Given the description of an element on the screen output the (x, y) to click on. 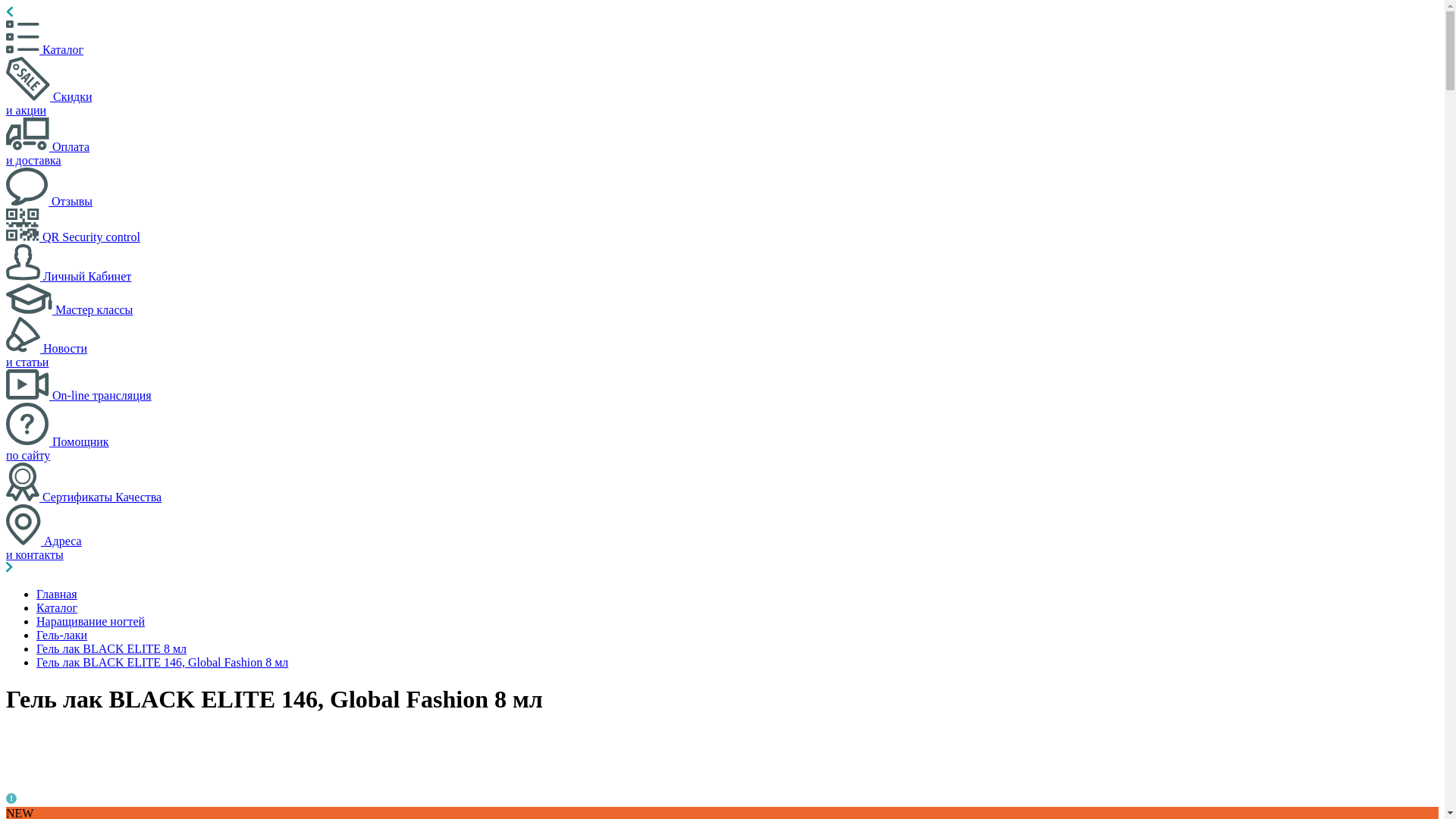
QR Security control Element type: text (73, 236)
